Given the description of an element on the screen output the (x, y) to click on. 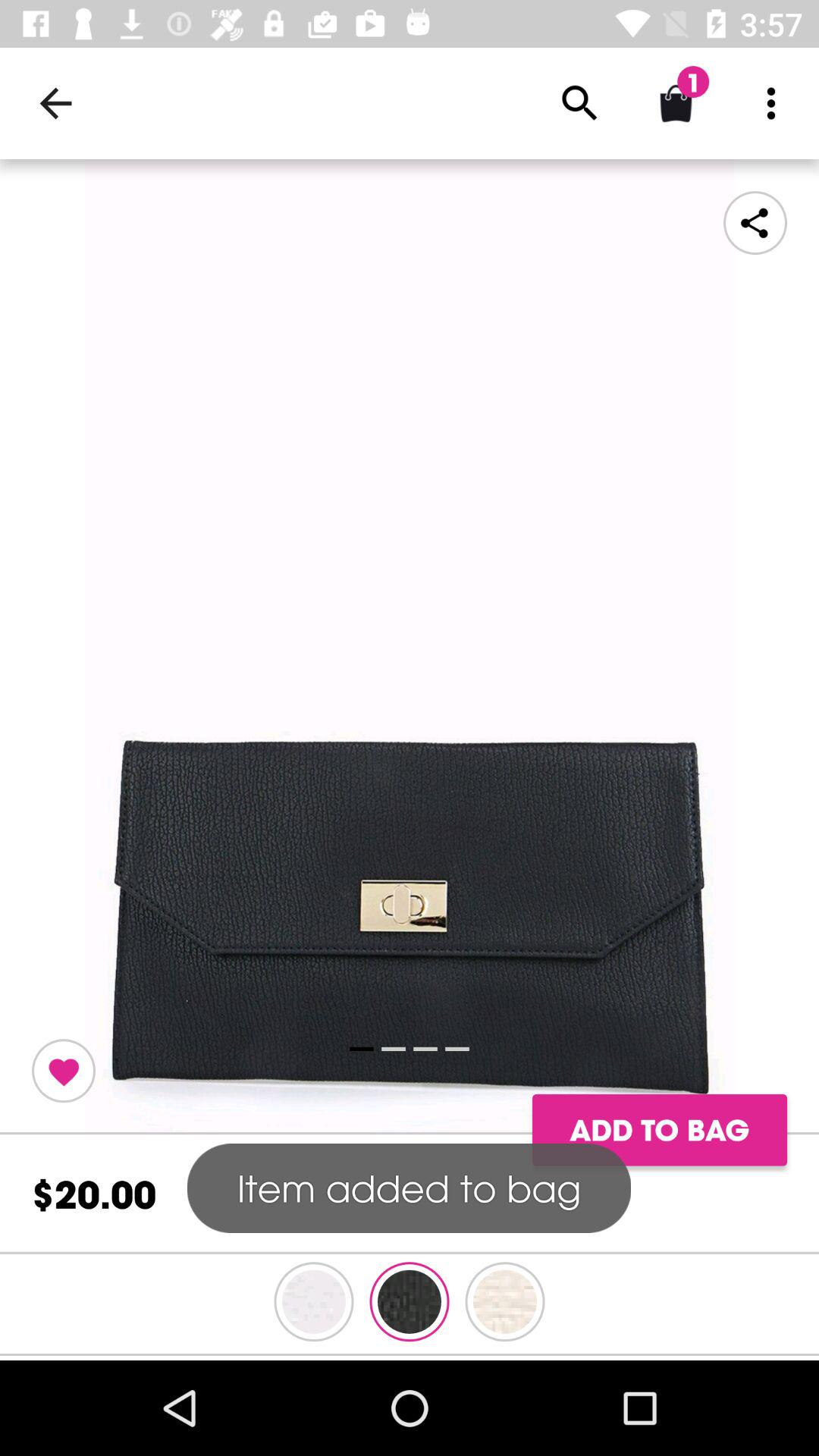
share (755, 222)
